Given the description of an element on the screen output the (x, y) to click on. 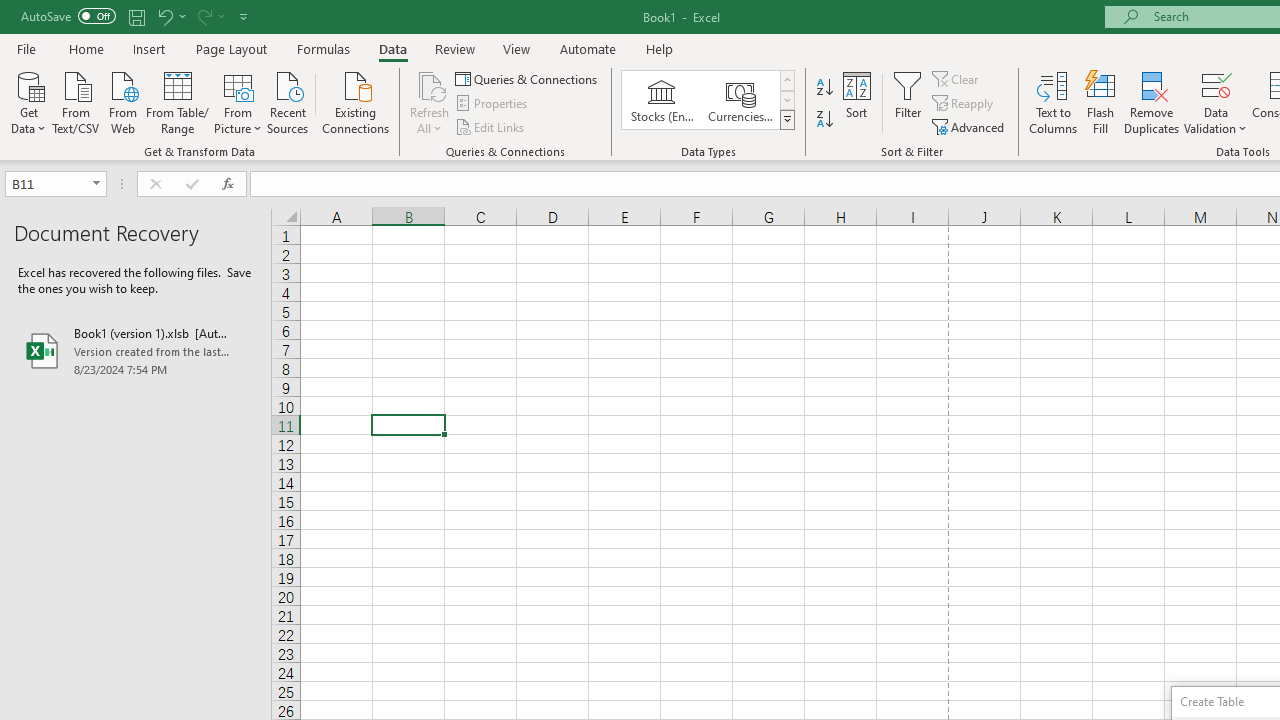
Sort A to Z (824, 87)
Sort Z to A (824, 119)
From Picture (238, 101)
